Given the description of an element on the screen output the (x, y) to click on. 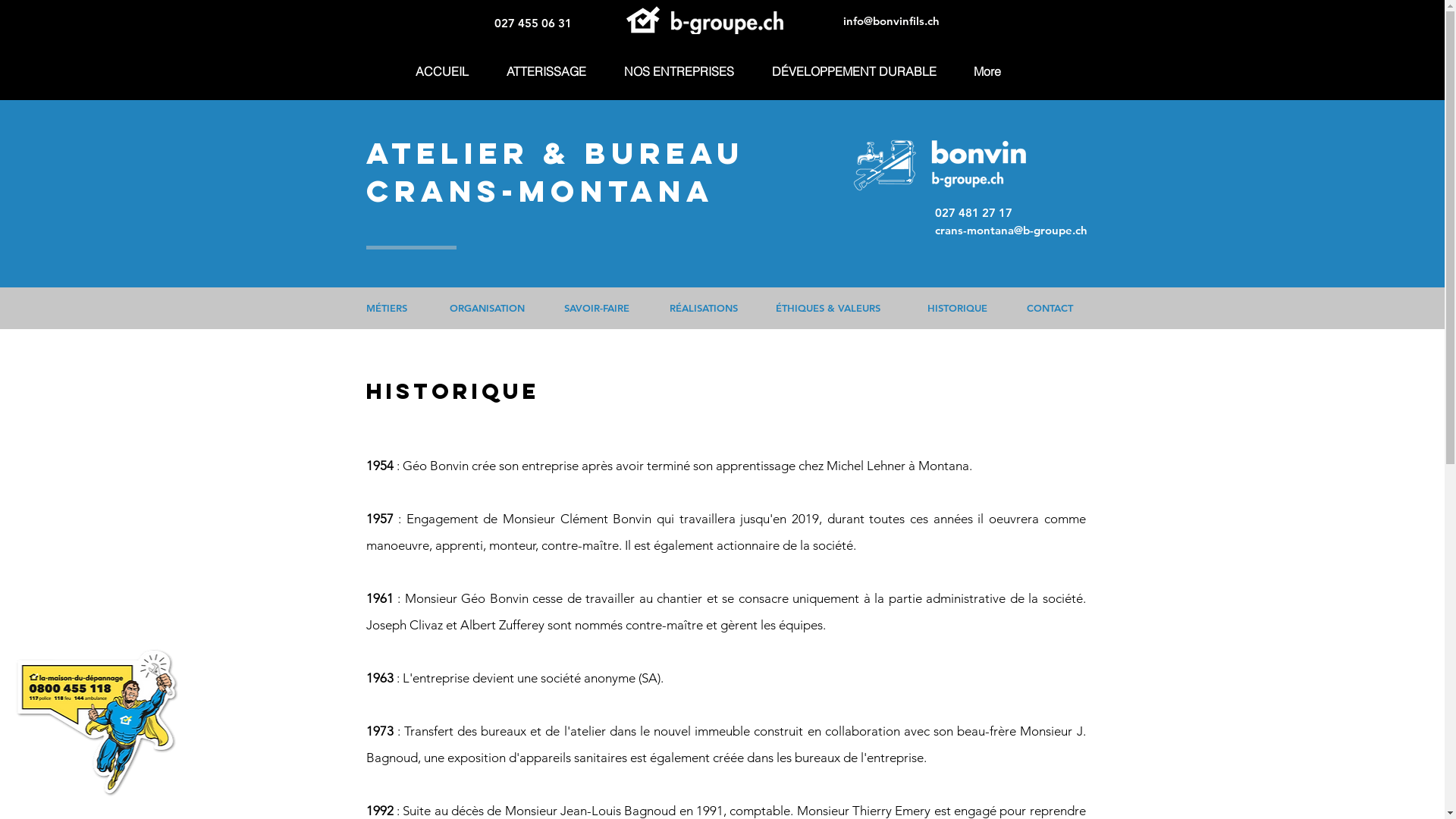
HISTORIQUE Element type: text (958, 307)
HISTORIQUE Element type: text (956, 307)
CONTACT Element type: text (1052, 307)
info@bonvinfils.ch Element type: text (891, 20)
bonvin-white.png Element type: hover (725, 21)
ORGANISATION Element type: text (488, 307)
crans-montana@b-groupe.ch Element type: text (1010, 229)
ORGANISATION Element type: text (486, 307)
SAVOIR-FAIRE Element type: text (600, 307)
ACCUEIL Element type: text (448, 71)
bonvin-white.png Element type: hover (643, 20)
ATTERISSAGE Element type: text (552, 71)
CONTACT Element type: text (1049, 307)
SAVOIR-FAIRE Element type: text (595, 307)
